Given the description of an element on the screen output the (x, y) to click on. 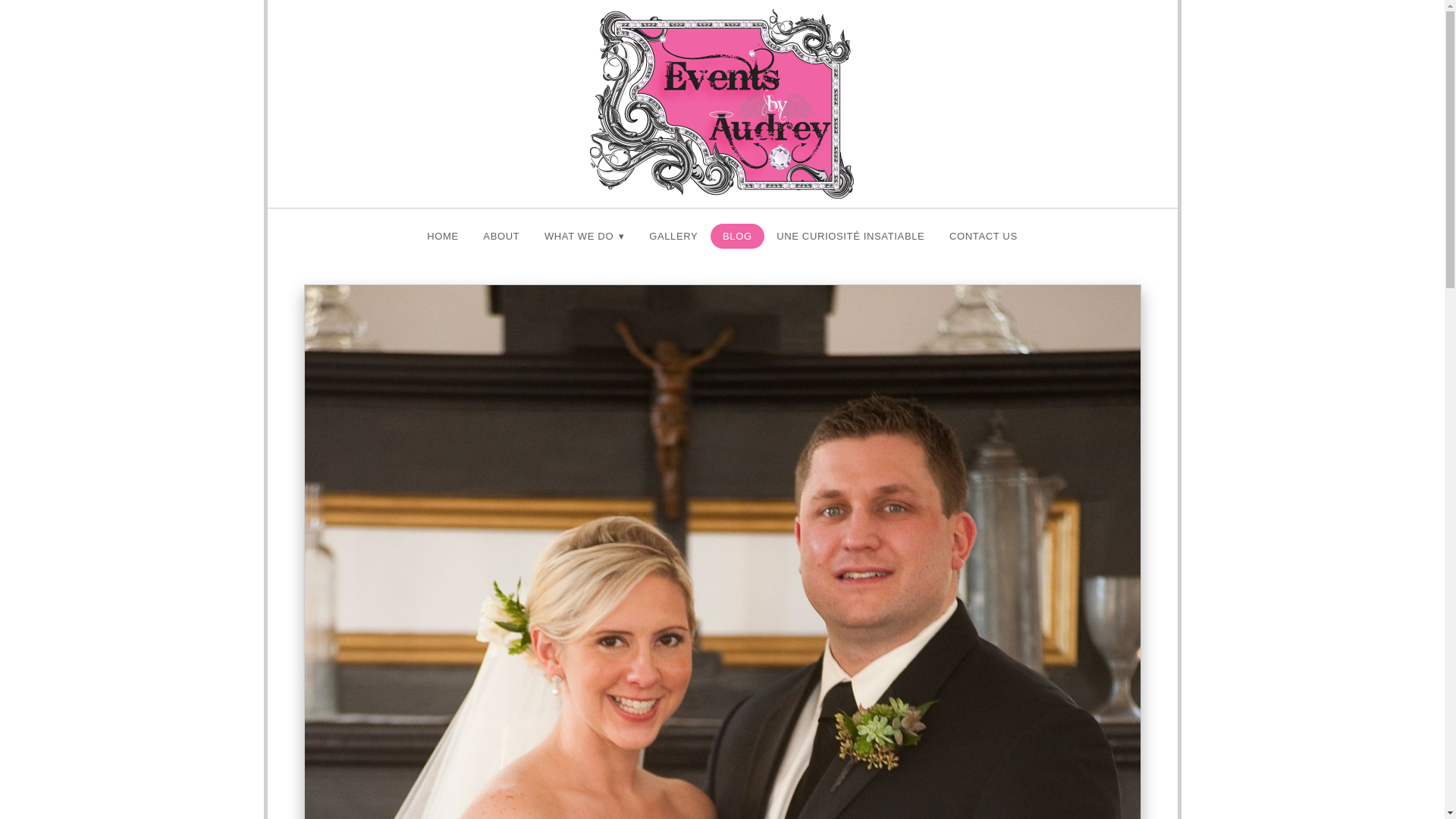
HOME (442, 235)
GALLERY (673, 235)
Events by Audrey (721, 104)
CONTACT US (983, 235)
BLOG (737, 235)
ABOUT (501, 235)
